Given the description of an element on the screen output the (x, y) to click on. 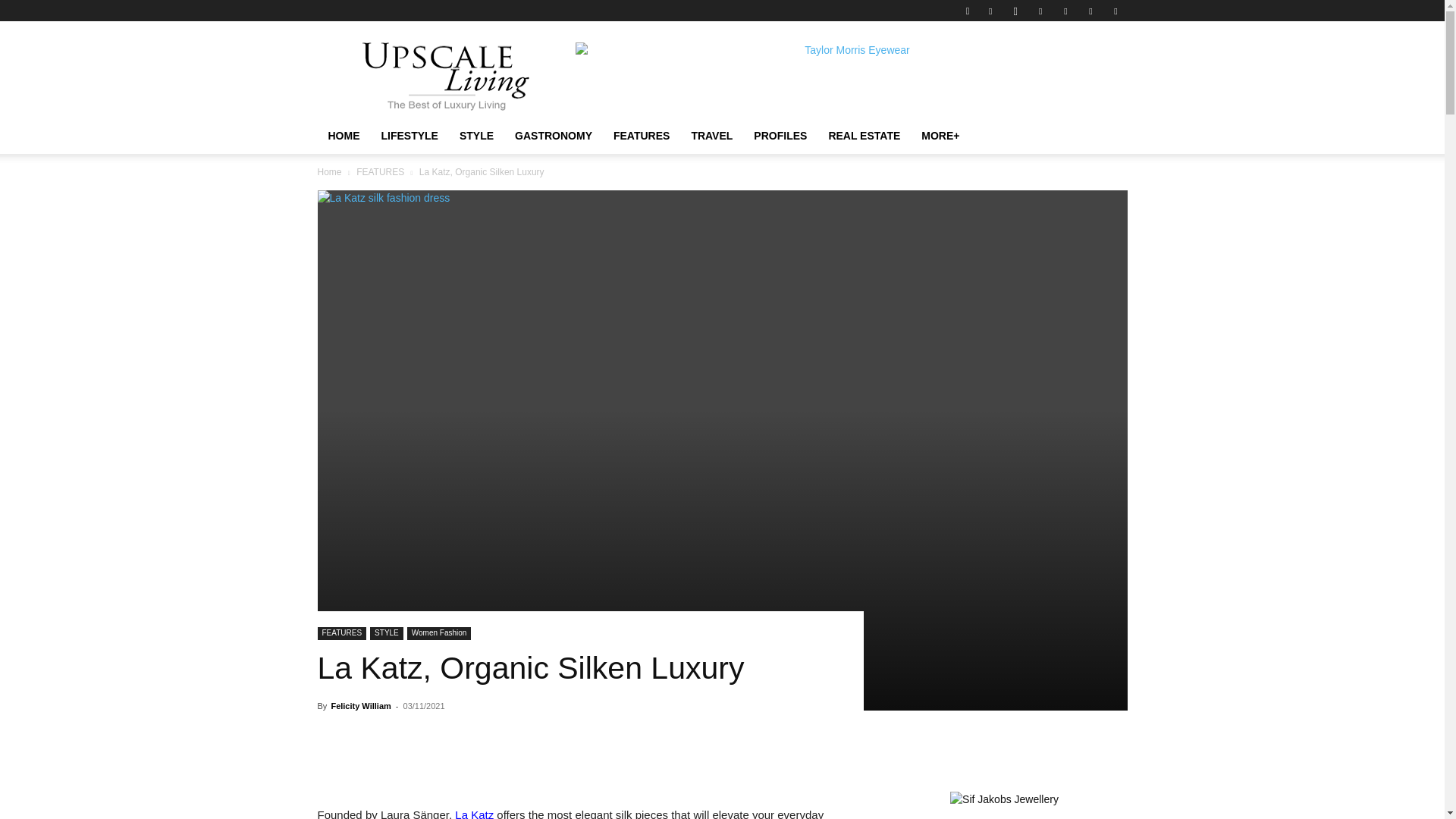
Linkedin (1040, 10)
Pinterest (1065, 10)
Facebook (989, 10)
Instagram (1015, 10)
